Given the description of an element on the screen output the (x, y) to click on. 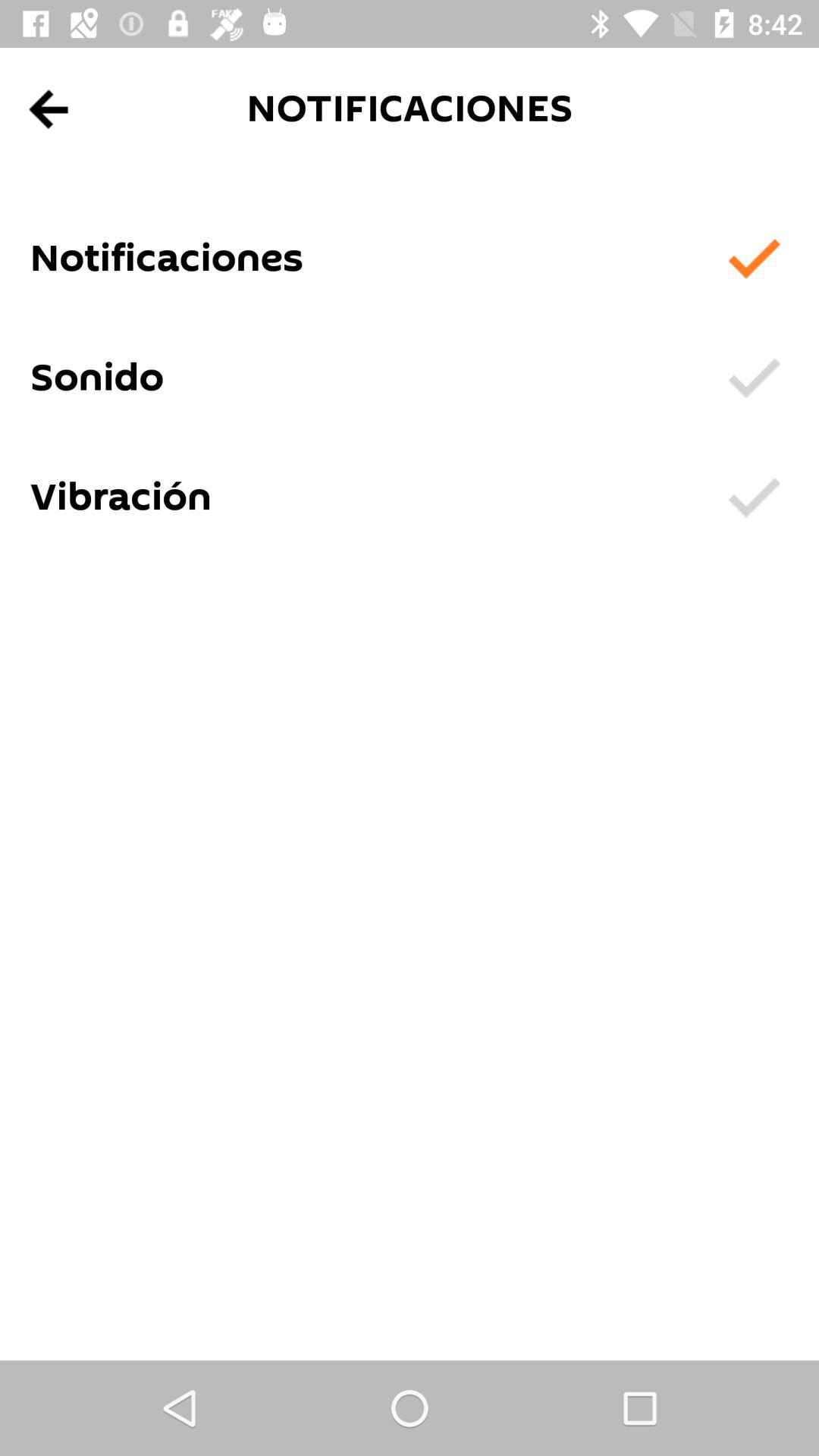
launch the app above notificaciones (49, 109)
